Given the description of an element on the screen output the (x, y) to click on. 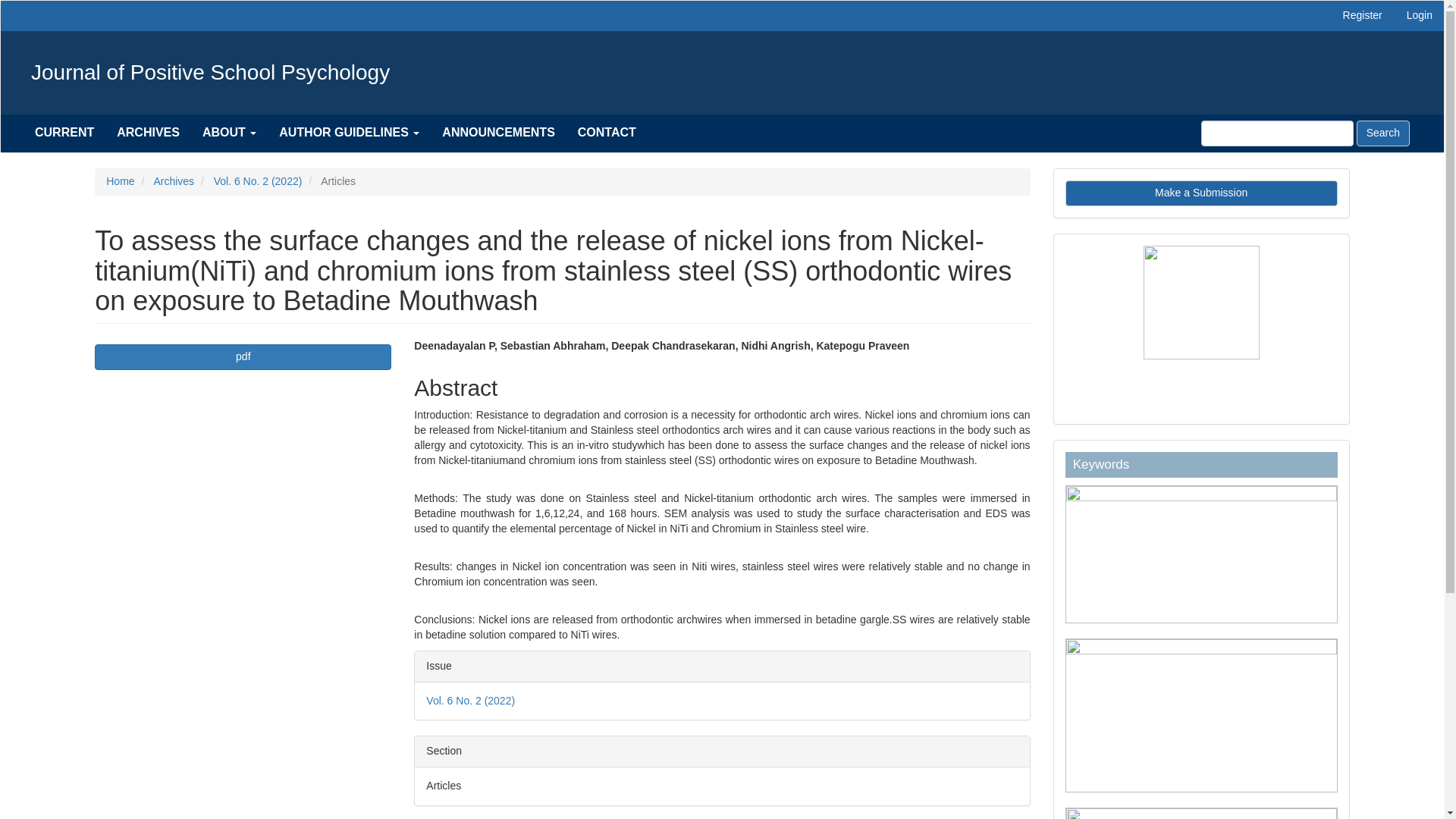
Archives (172, 181)
CURRENT (63, 132)
ABOUT (228, 132)
Make a Submission (1201, 193)
Home (119, 181)
pdf (242, 356)
Search (1382, 133)
Journal of Positive School Psychology (210, 72)
AUTHOR GUIDELINES (348, 132)
ARCHIVES (147, 132)
